Given the description of an element on the screen output the (x, y) to click on. 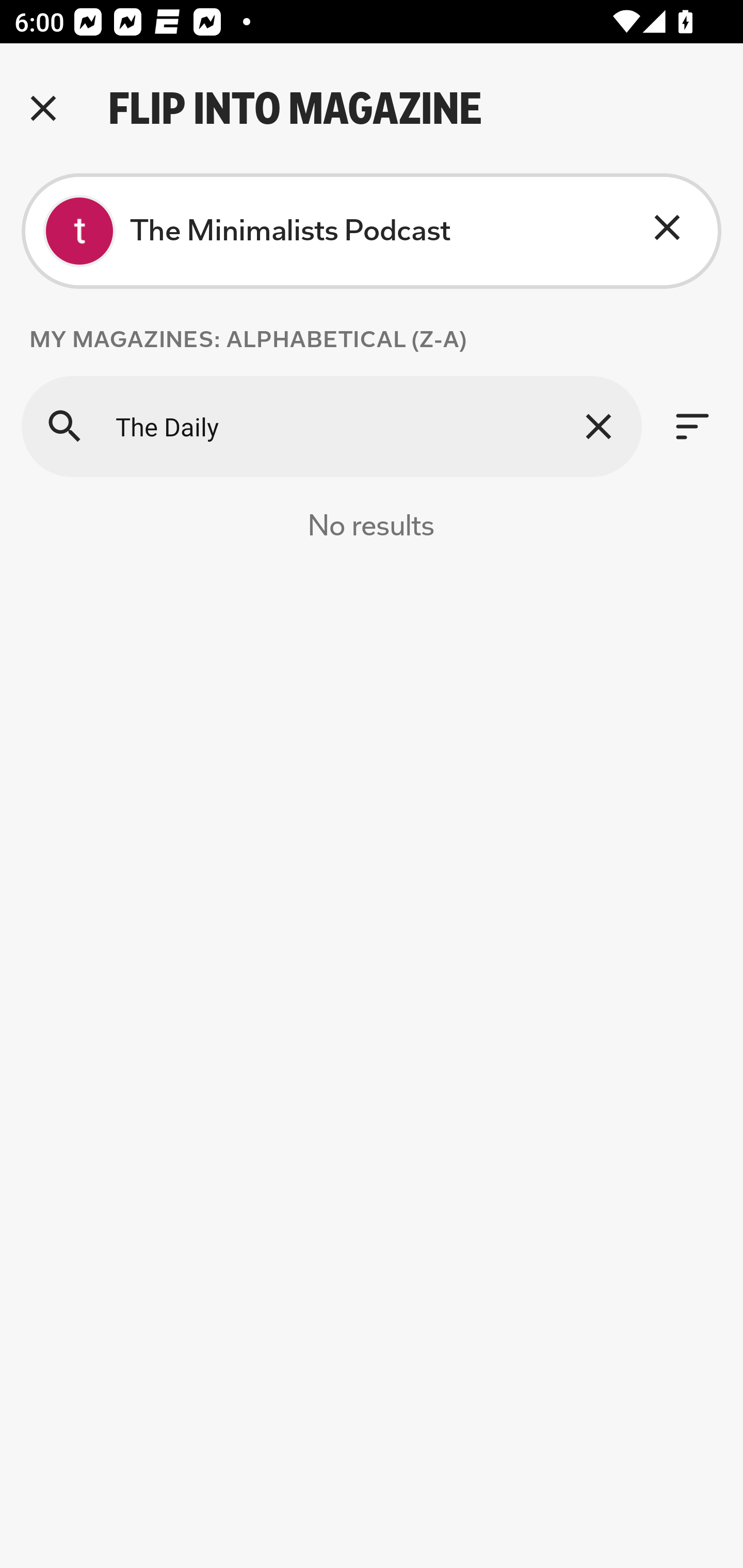
test appium The Minimalists Podcast
 (371, 231)
The Daily Search (331, 426)
